Given the description of an element on the screen output the (x, y) to click on. 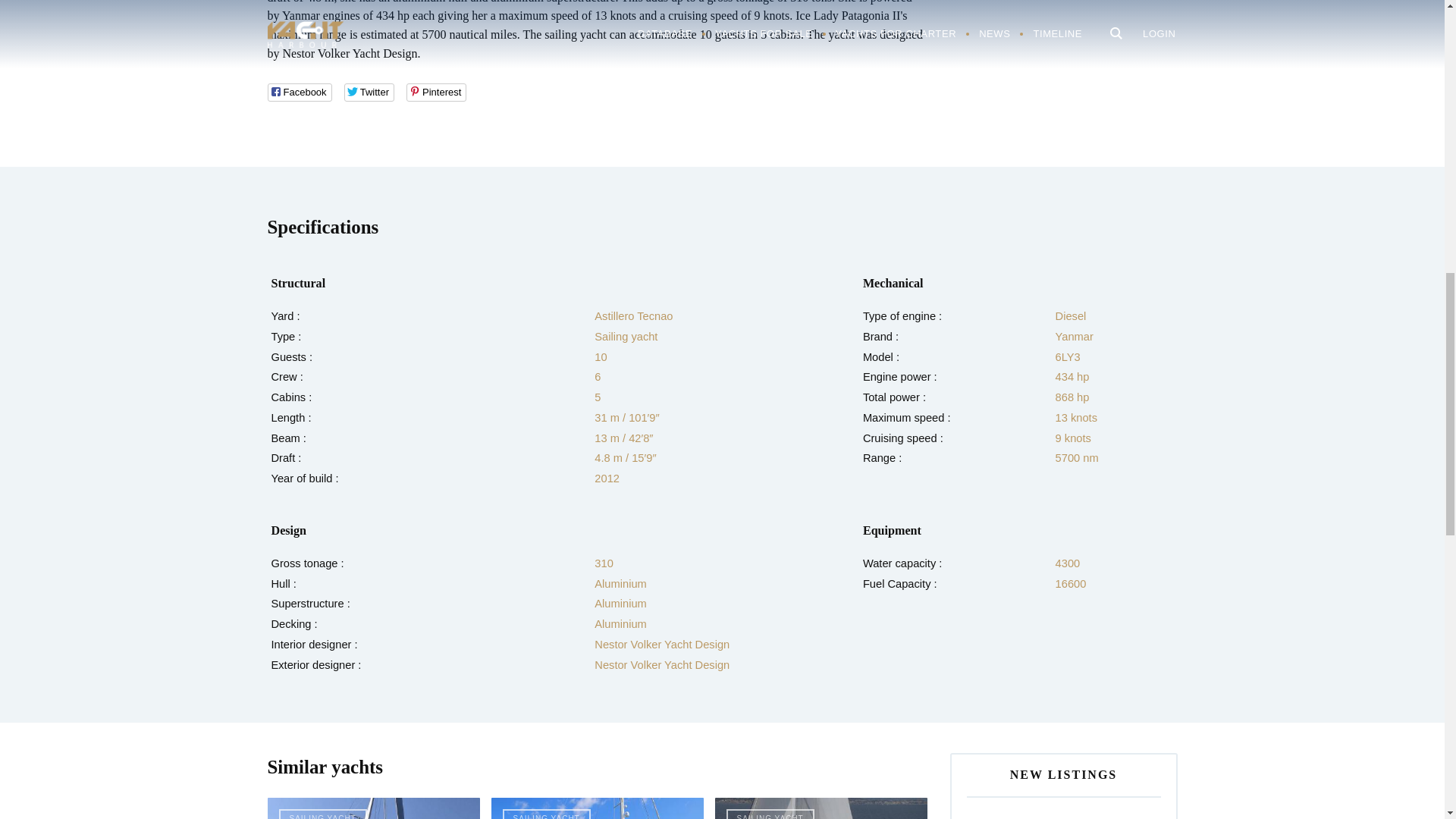
Pin it (435, 92)
Share (298, 92)
Twit (368, 92)
